Given the description of an element on the screen output the (x, y) to click on. 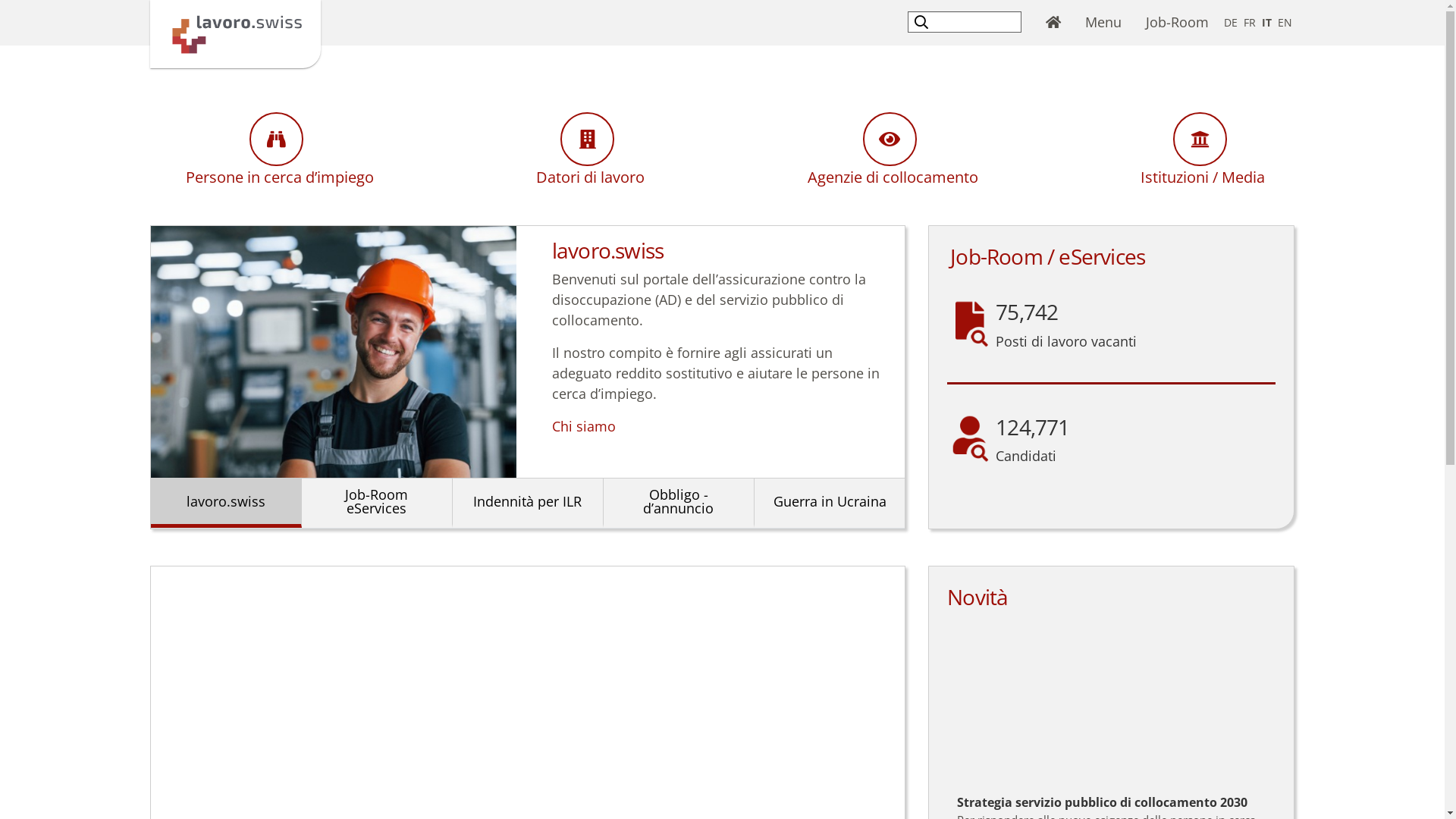
Job-Room eServices Element type: text (376, 500)
Agenzie di collocamento Element type: text (889, 150)
IT Element type: text (1266, 22)
75,742
Posti di lavoro vacanti Element type: text (1065, 324)
Strategia servizio pubblico di collocamento 2030 Element type: hover (1111, 703)
Menu Element type: text (1102, 22)
EN Element type: text (1284, 22)
Pagina iniziale Element type: hover (235, 32)
Job-Room Element type: text (1176, 22)
Ricerca Element type: text (923, 21)
124,771
Candidati Element type: text (1032, 439)
Pagina iniziale Element type: hover (1052, 22)
Istituzioni / Media Element type: text (1199, 150)
Datori di lavoro Element type: text (586, 150)
Guerra in Ucraina Element type: text (829, 500)
DE Element type: text (1230, 22)
Chi siamo Element type: text (583, 426)
Job-Room / eServices Element type: text (1047, 256)
FR Element type: text (1249, 22)
